Given the description of an element on the screen output the (x, y) to click on. 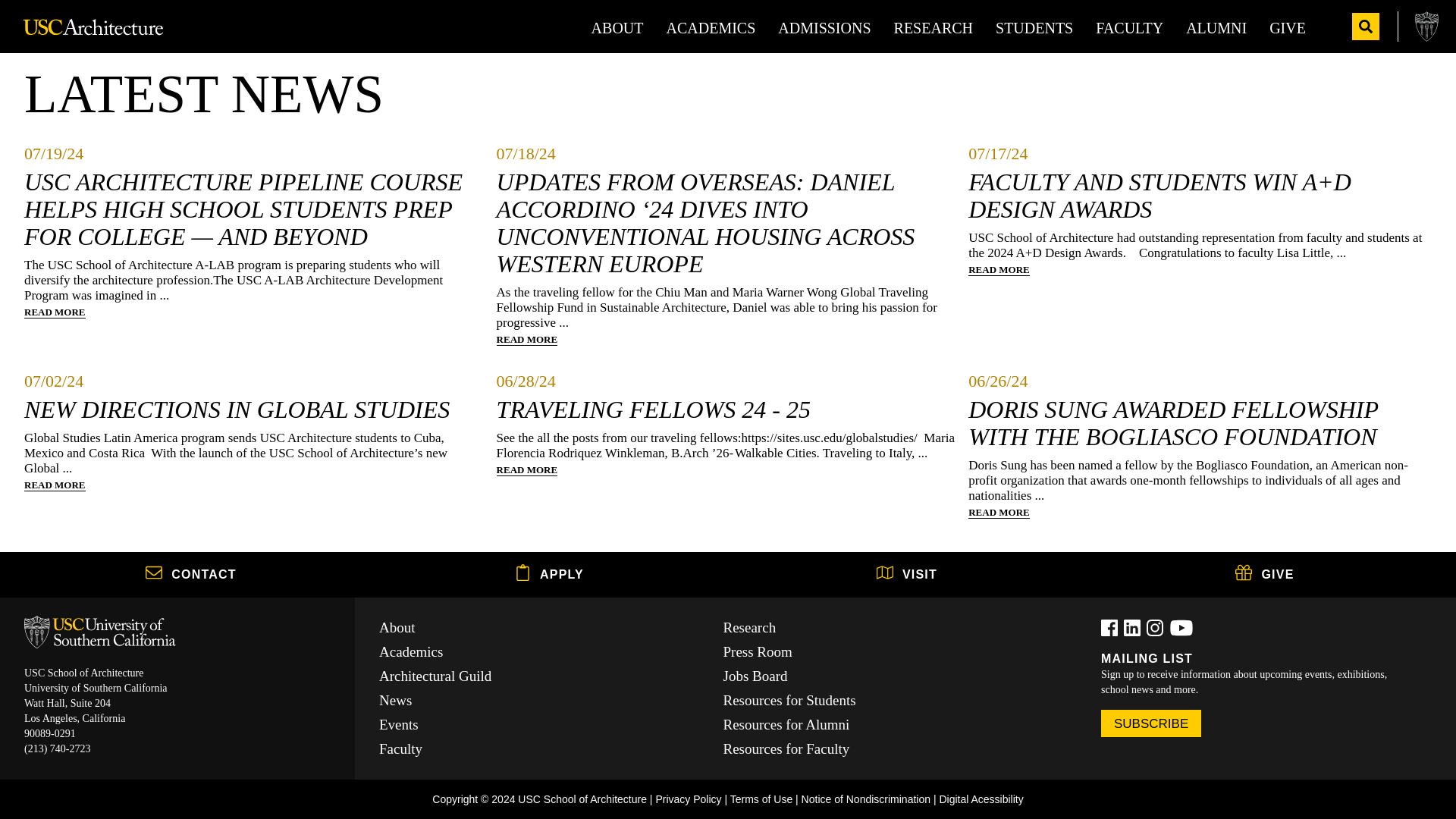
Youtube (1181, 627)
